Given the description of an element on the screen output the (x, y) to click on. 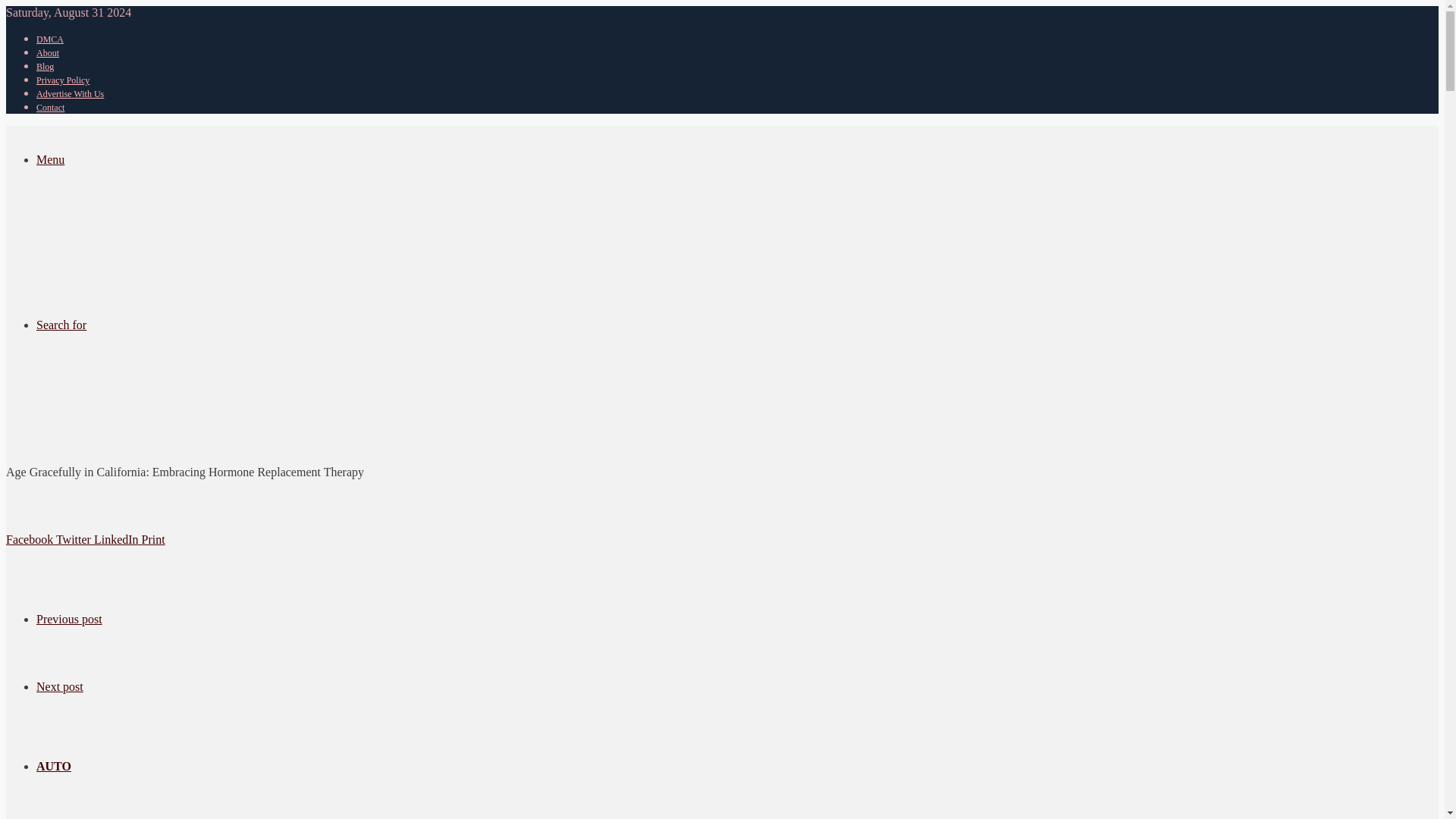
Facebook (30, 539)
Print (153, 539)
Blog (44, 66)
Next post (59, 686)
Twitter (75, 539)
Menu (50, 159)
The Digital Boy (118, 404)
AUTO (53, 766)
The Digital Boy (118, 241)
Previous post (68, 618)
